Given the description of an element on the screen output the (x, y) to click on. 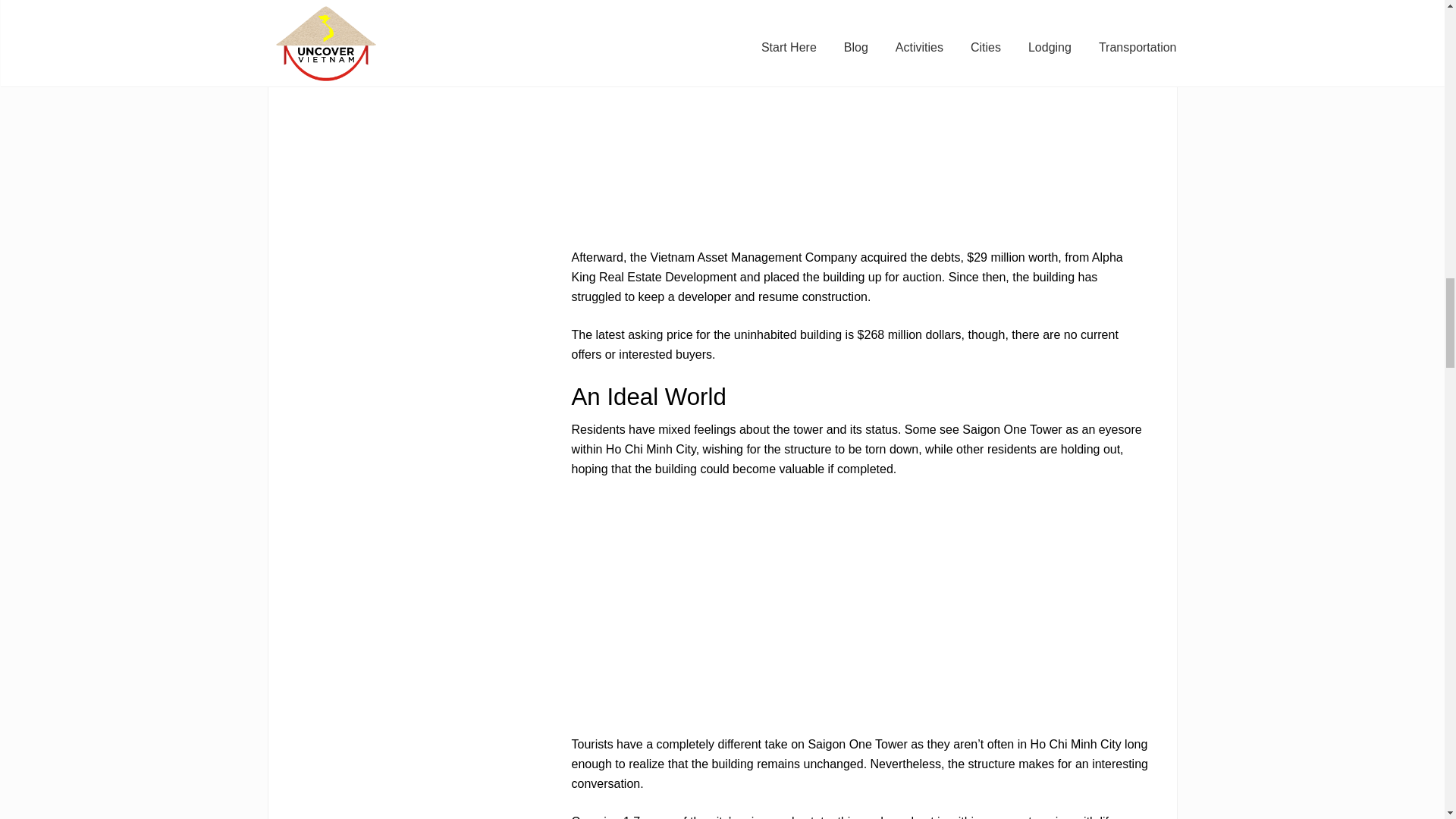
Gyver Chang (952, 32)
